Given the description of an element on the screen output the (x, y) to click on. 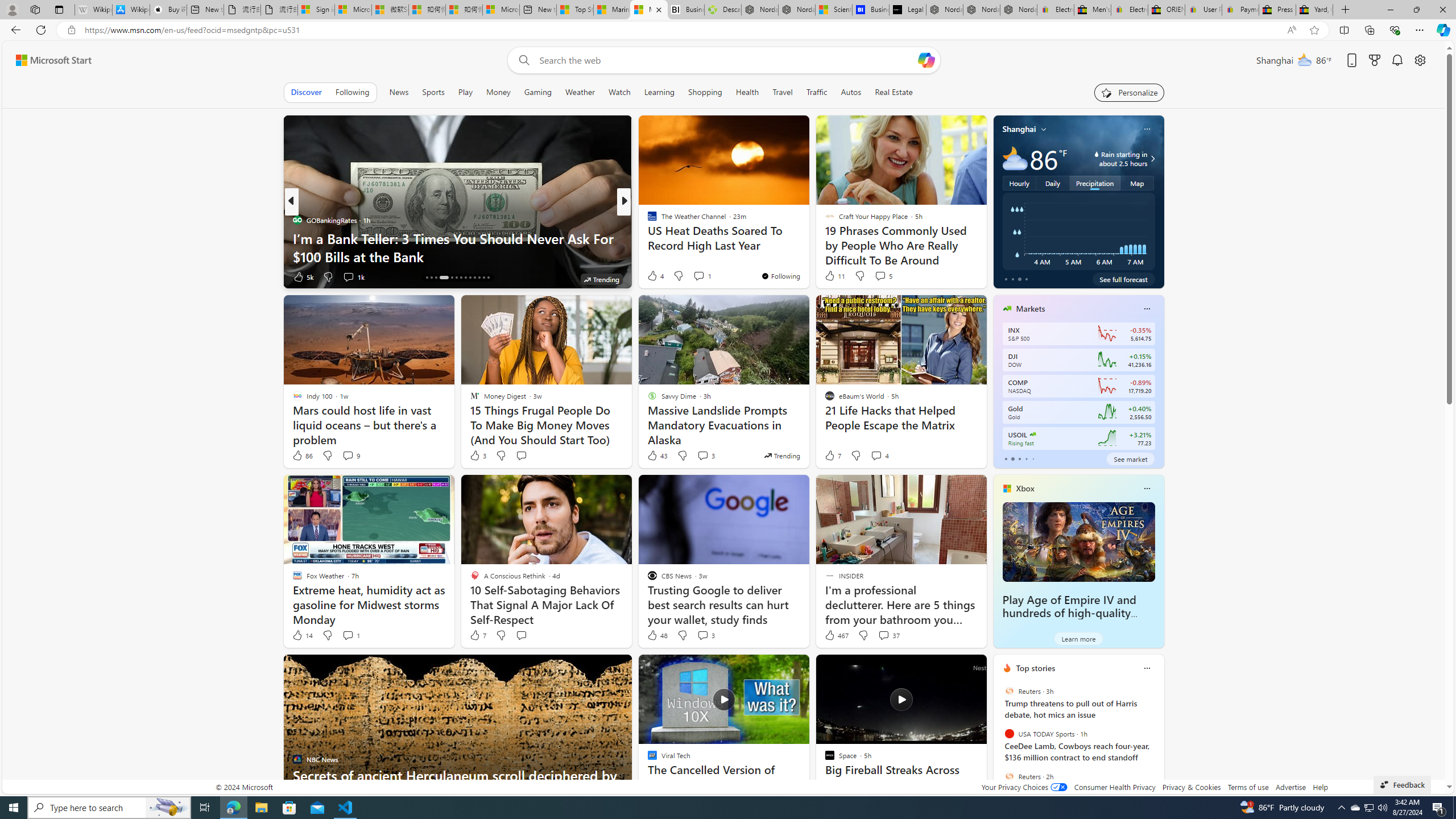
AutomationID: tab-22 (470, 277)
Your Privacy Choices (1024, 786)
48 Like (657, 634)
Google is a monopoly. The fix isn't obvious (807, 256)
3 Like (477, 455)
Mostly cloudy (1014, 158)
516 Like (654, 276)
Reuters (1008, 775)
USA TODAY Sports (1008, 733)
